Given the description of an element on the screen output the (x, y) to click on. 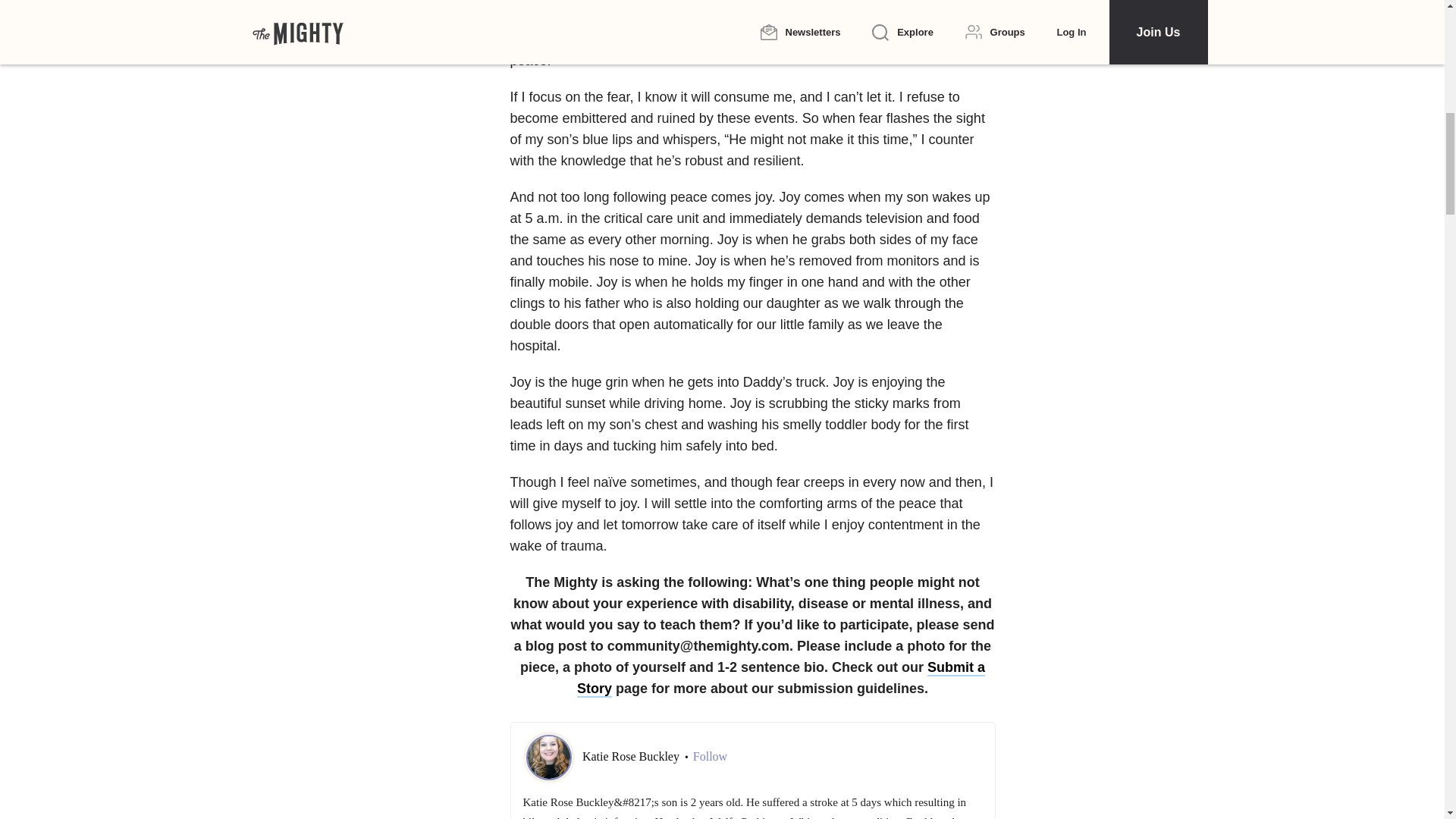
Follow (709, 756)
Katie Rose Buckley (632, 756)
Submit a Story (780, 678)
